Given the description of an element on the screen output the (x, y) to click on. 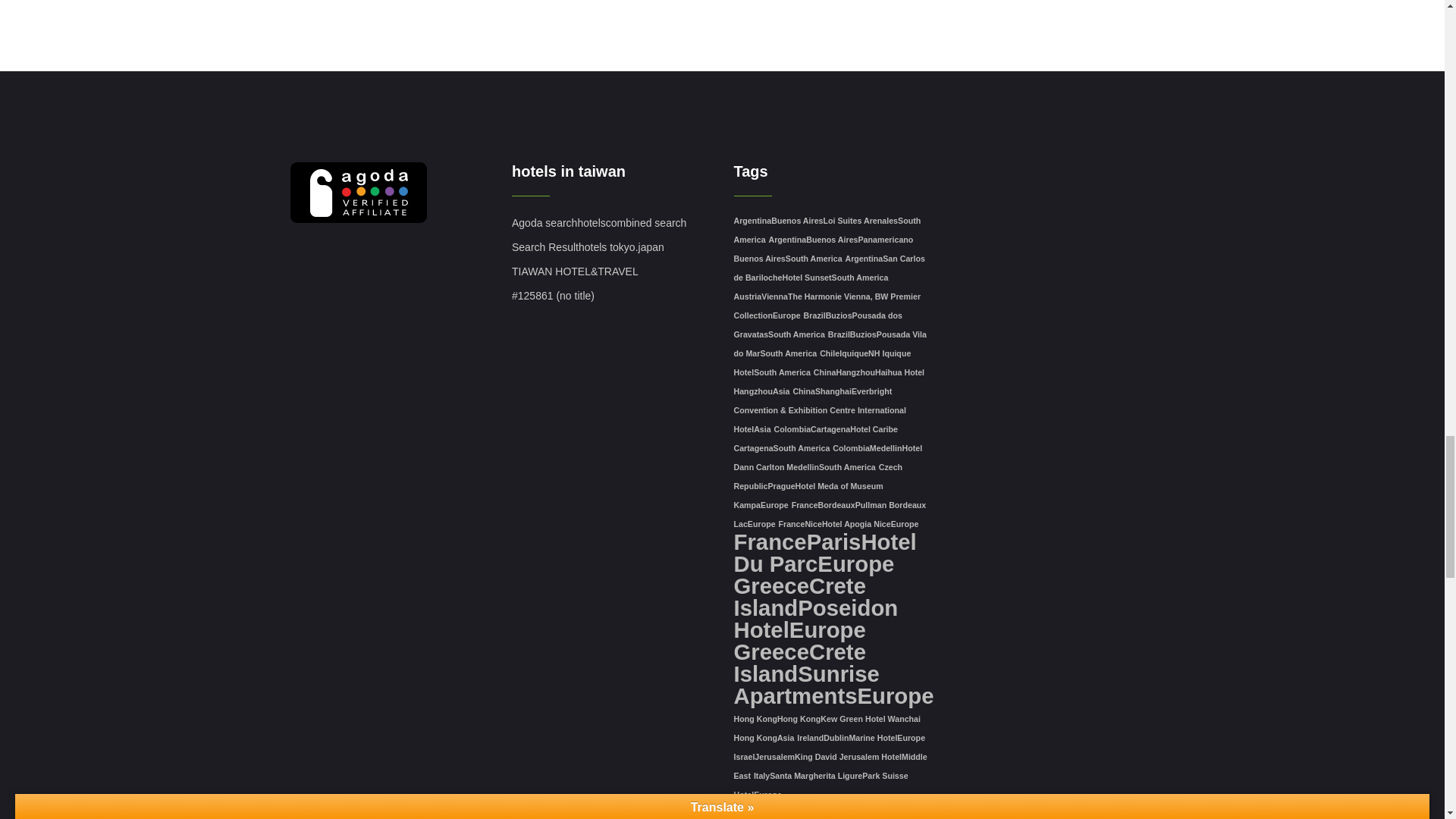
Agoda search (544, 223)
